Given the description of an element on the screen output the (x, y) to click on. 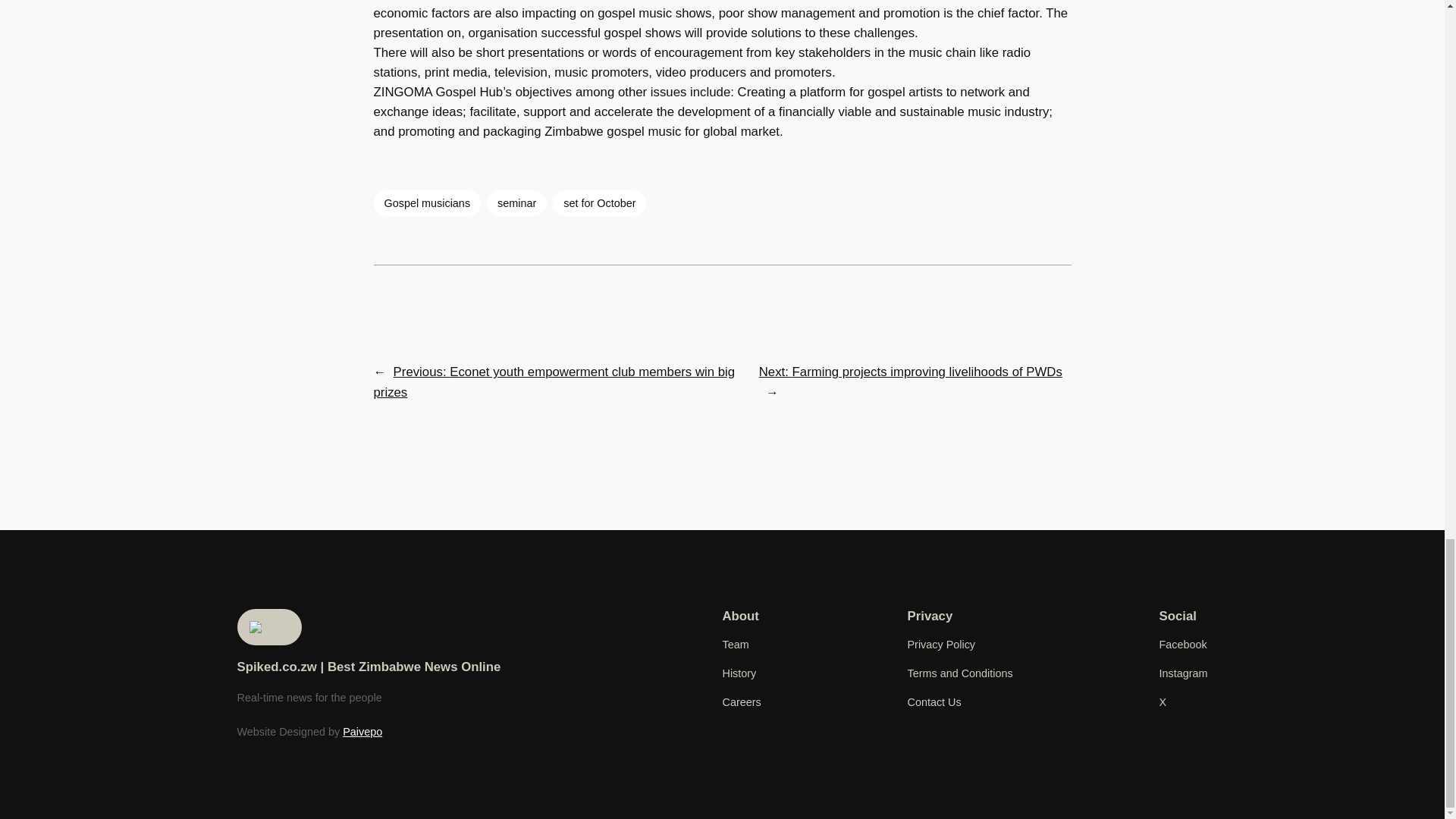
History (738, 673)
seminar (516, 203)
Contact Us (933, 701)
Terms and Conditions (959, 673)
Privacy Policy (941, 644)
set for October (599, 203)
Next: Farming projects improving livelihoods of PWDs (910, 371)
Gospel musicians (426, 203)
Facebook (1182, 644)
X (1162, 701)
Paivepo (361, 731)
Instagram (1182, 673)
Careers (741, 701)
Team (735, 644)
